Given the description of an element on the screen output the (x, y) to click on. 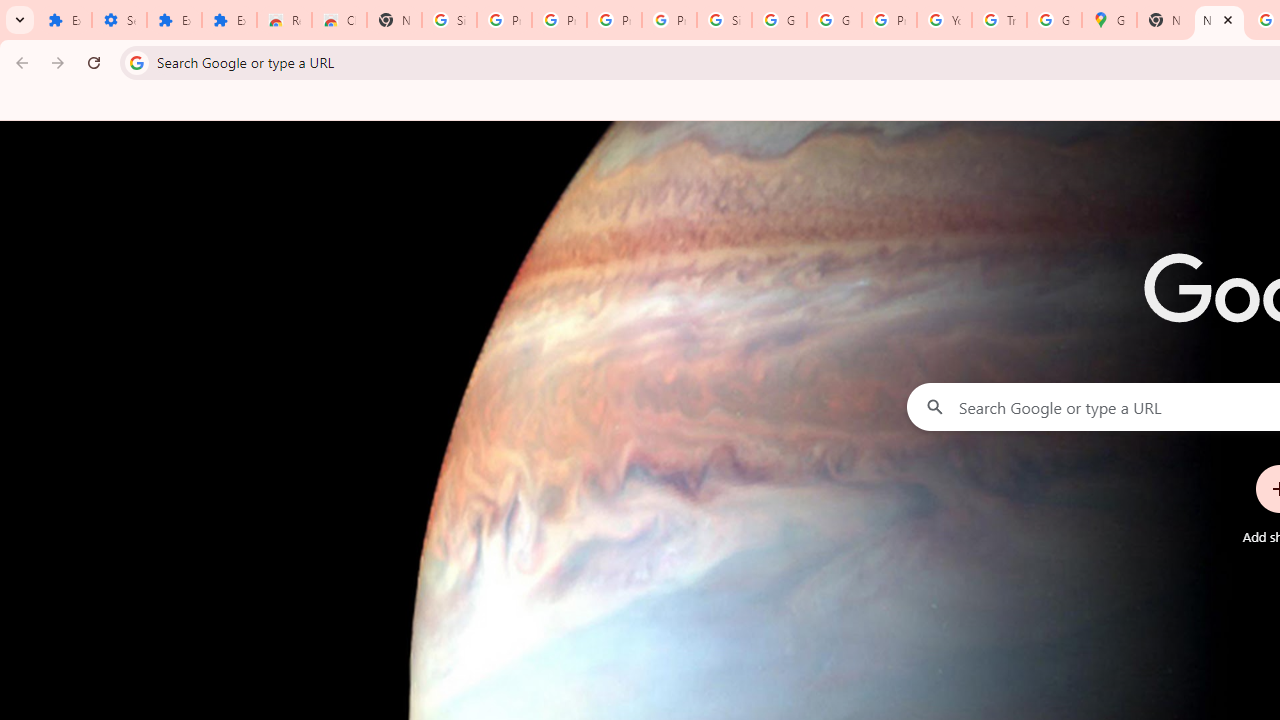
Settings (119, 20)
New Tab (1163, 20)
New Tab (394, 20)
Extensions (64, 20)
Sign in - Google Accounts (449, 20)
